Given the description of an element on the screen output the (x, y) to click on. 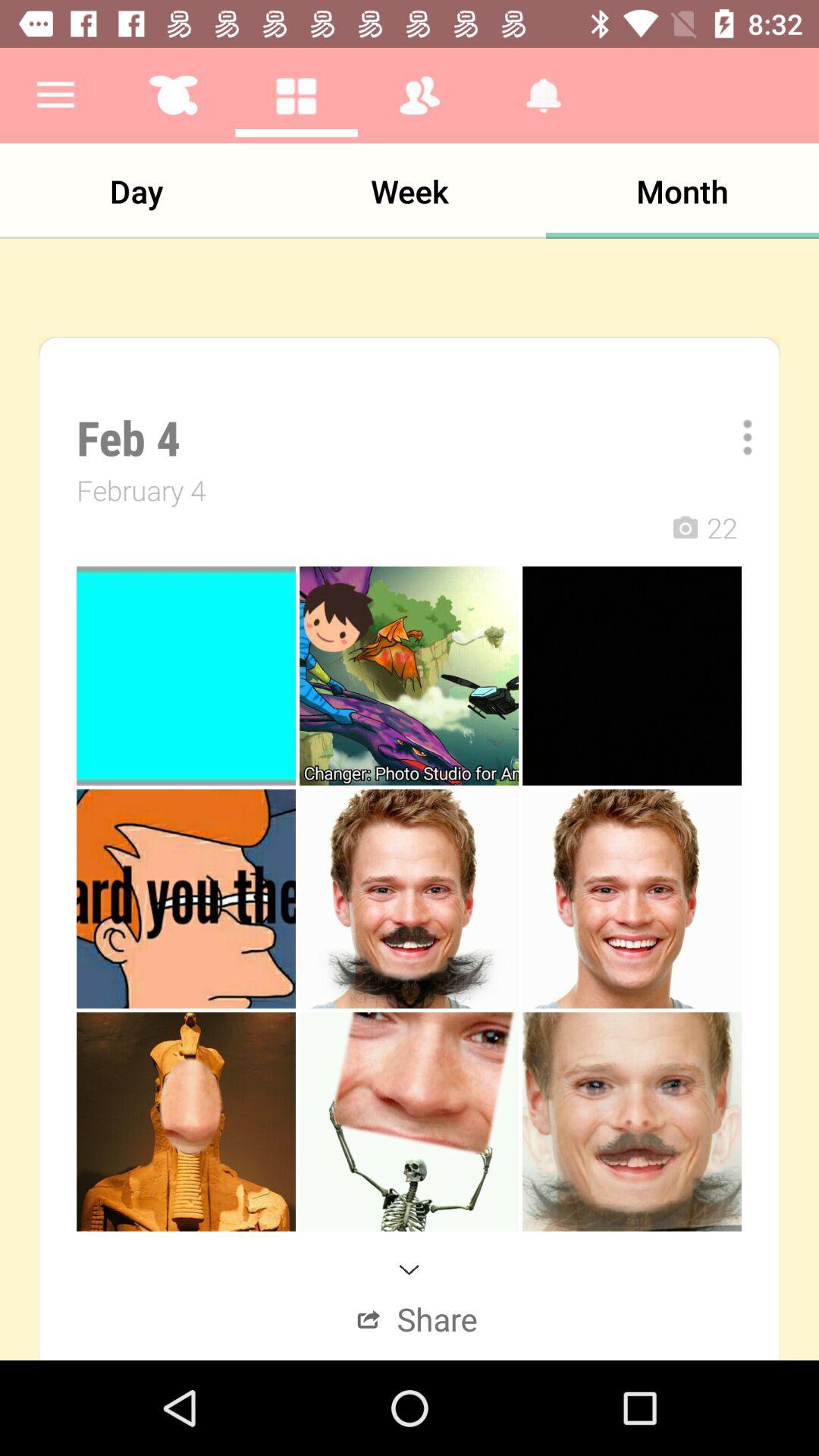
press the item next to week app (682, 190)
